Given the description of an element on the screen output the (x, y) to click on. 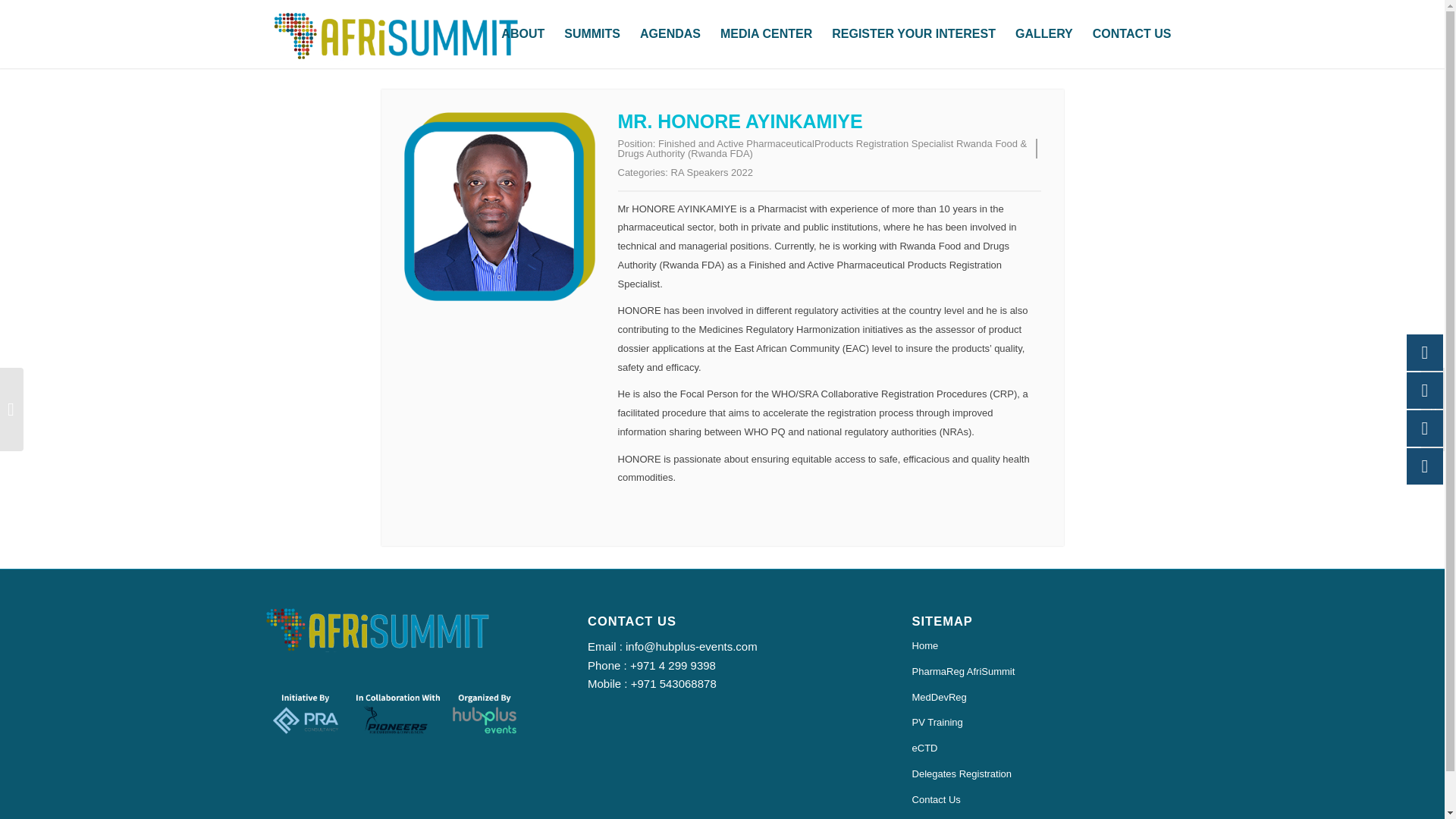
CONTACT US (1131, 33)
Home (1046, 646)
GALLERY (1044, 33)
PV Training (1046, 723)
ABOUT (523, 33)
eCTD (1046, 749)
Contact Us (1046, 800)
SUMMITS (592, 33)
AGENDAS (670, 33)
MEDIA CENTER (766, 33)
Delegates Registration (1046, 774)
REGISTER YOUR INTEREST (914, 33)
PharmaReg AfriSummit (1046, 672)
MedDevReg (1046, 698)
